Given the description of an element on the screen output the (x, y) to click on. 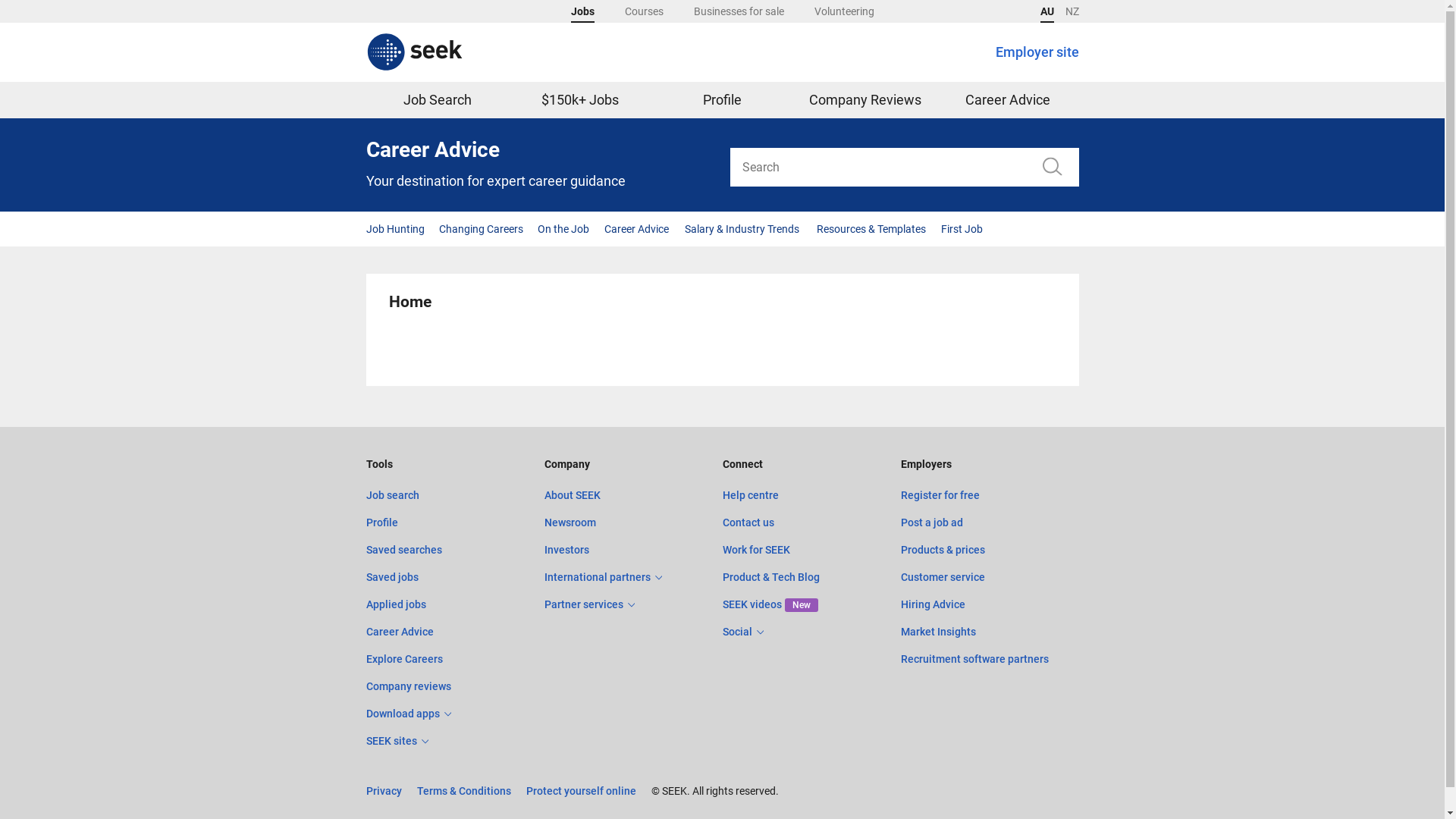
Employer site Element type: text (1036, 52)
Products & prices Element type: text (942, 549)
Market Insights Element type: text (937, 631)
Protect yourself online Element type: text (581, 790)
Career Advice Element type: text (399, 631)
Saved jobs Element type: text (391, 576)
Career Advice Element type: text (1006, 99)
Businesses for sale Element type: text (738, 11)
Courses Element type: text (643, 11)
Terms & Conditions Element type: text (464, 790)
Customer service Element type: text (942, 576)
Recruitment software partners Element type: text (974, 658)
Explore Careers Element type: text (403, 658)
Applied jobs Element type: text (395, 604)
Job search Element type: text (391, 494)
NZ Element type: text (1071, 11)
Volunteering Element type: text (844, 11)
Register for free Element type: text (939, 494)
Product & Tech Blog Element type: text (770, 576)
First Job Element type: text (961, 228)
Work for SEEK Element type: text (755, 549)
Changing Careers Element type: text (480, 228)
Job Search Element type: text (436, 99)
Help centre Element type: text (749, 494)
Hiring Advice Element type: text (932, 604)
Career Advice Element type: text (636, 228)
Investors Element type: text (566, 549)
Saved searches Element type: text (403, 549)
Contact us Element type: text (747, 522)
Salary & Industry Trends Element type: text (741, 228)
Company Reviews Element type: text (864, 99)
Profile Element type: text (381, 522)
$150k+ Jobs Element type: text (579, 99)
Job Hunting Element type: text (397, 228)
Newsroom Element type: text (570, 522)
Career Advice Element type: text (539, 153)
On the Job Element type: text (563, 228)
About SEEK Element type: text (572, 494)
Company reviews Element type: text (407, 685)
Post a job ad Element type: text (931, 522)
Profile Element type: text (721, 99)
Privacy Element type: text (383, 790)
Resources & Templates Element type: text (870, 228)
SEEK videos Element type: text (751, 604)
